Given the description of an element on the screen output the (x, y) to click on. 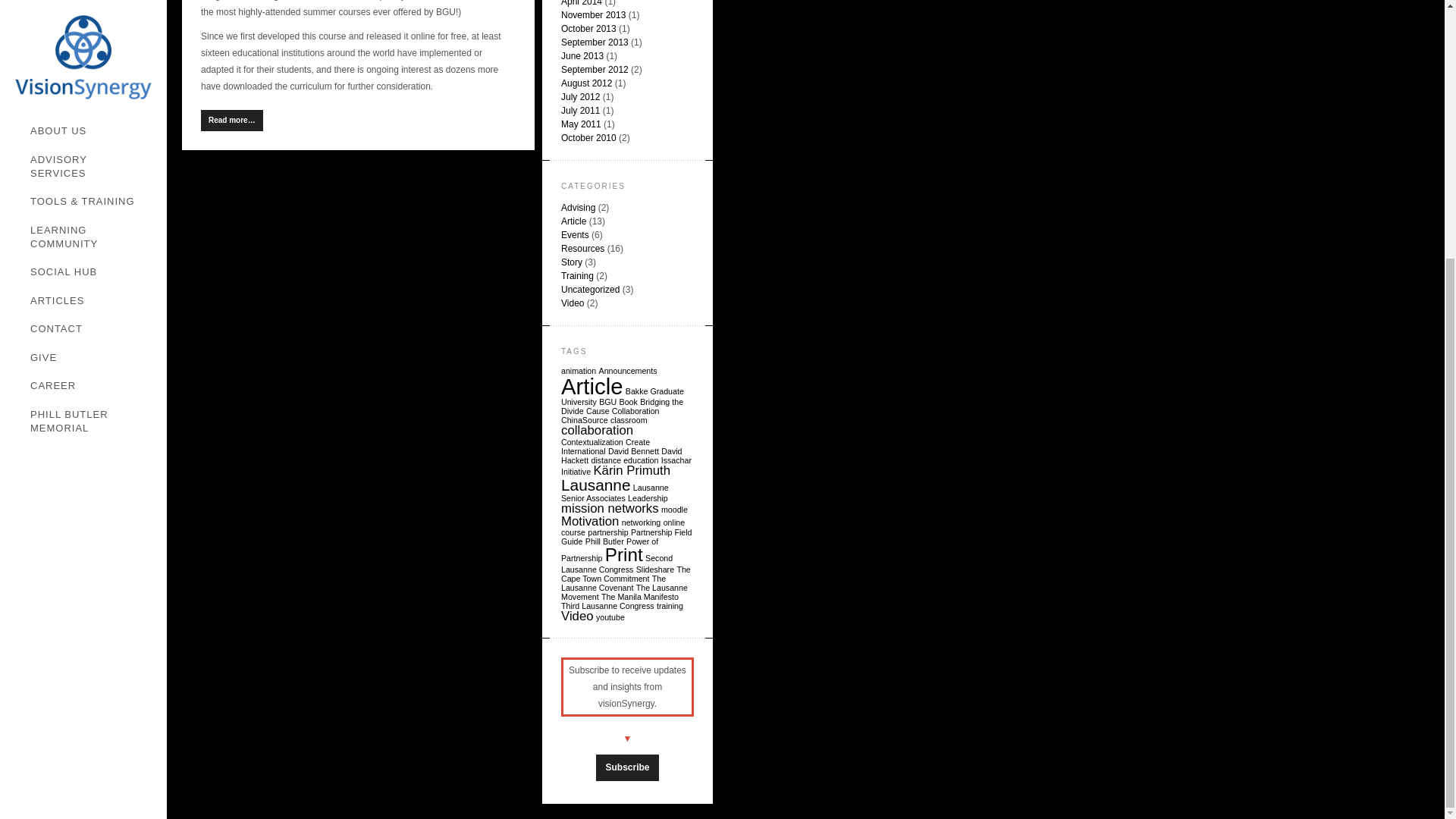
CAREER (90, 17)
PHILL BUTLER MEMORIAL (90, 52)
GIVE (90, 1)
